Given the description of an element on the screen output the (x, y) to click on. 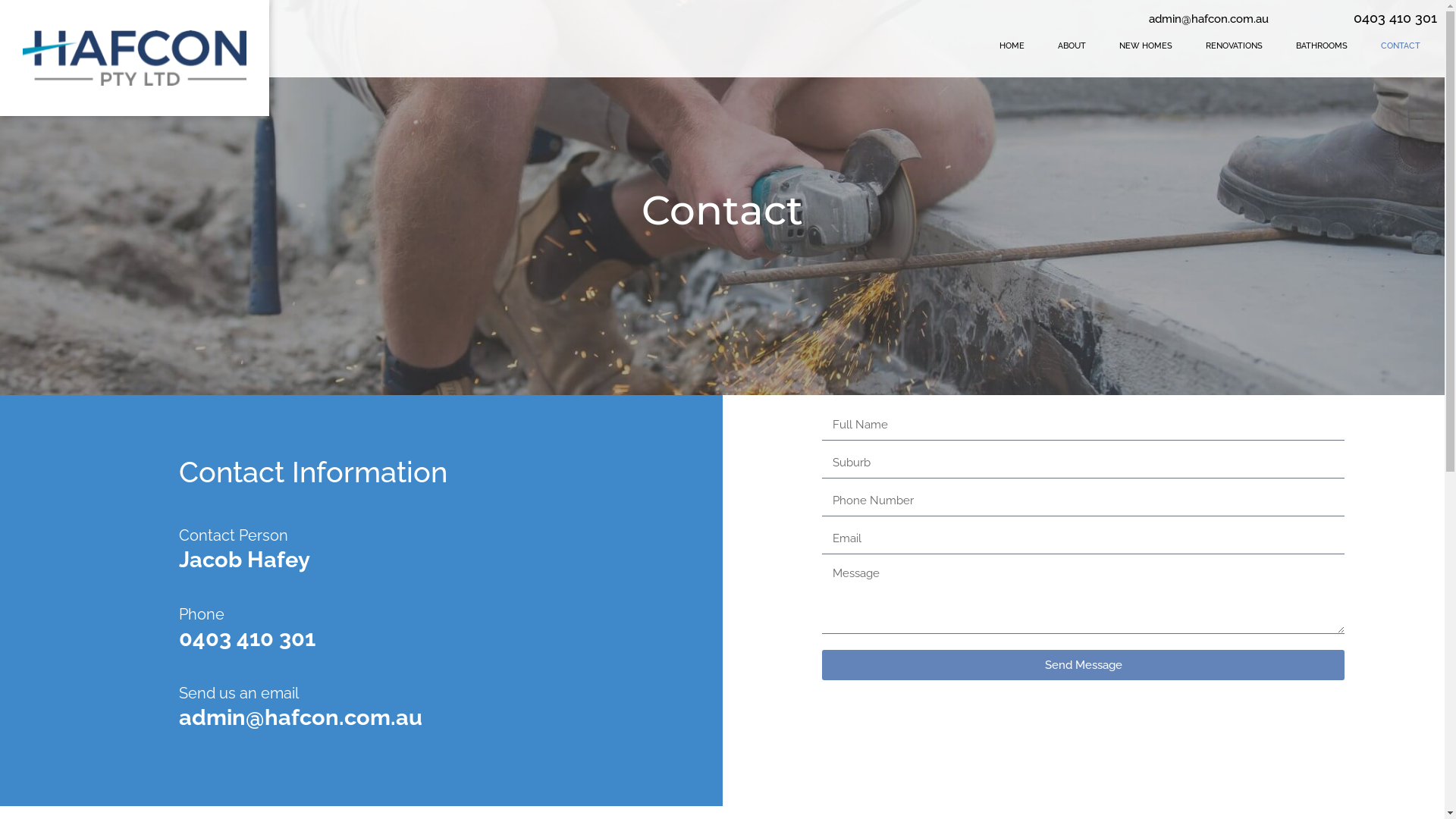
Send Message Element type: text (1083, 664)
BATHROOMS Element type: text (1321, 45)
CONTACT Element type: text (1400, 45)
0403 410 301 Element type: text (1395, 18)
HOME Element type: text (1011, 45)
admin@hafcon.com.au Element type: text (1208, 19)
ABOUT Element type: text (1071, 45)
0403 410 301 Element type: text (360, 638)
admin@hafcon.com.au Element type: text (360, 717)
NEW HOMES Element type: text (1145, 45)
RENOVATIONS Element type: text (1234, 45)
